Given the description of an element on the screen output the (x, y) to click on. 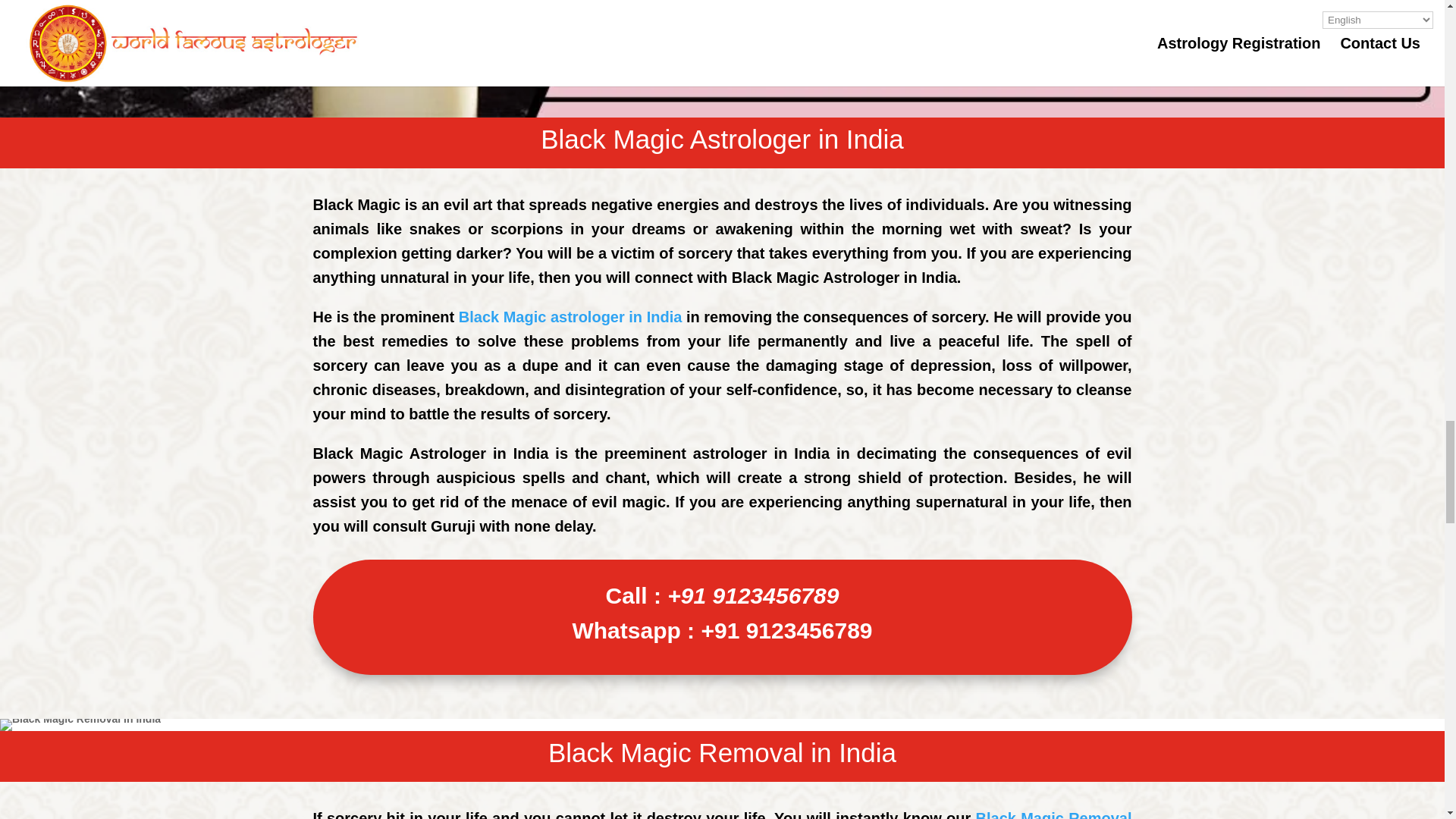
Black Magic astrologer in India (570, 316)
Black Magic Removal in India (80, 725)
